Given the description of an element on the screen output the (x, y) to click on. 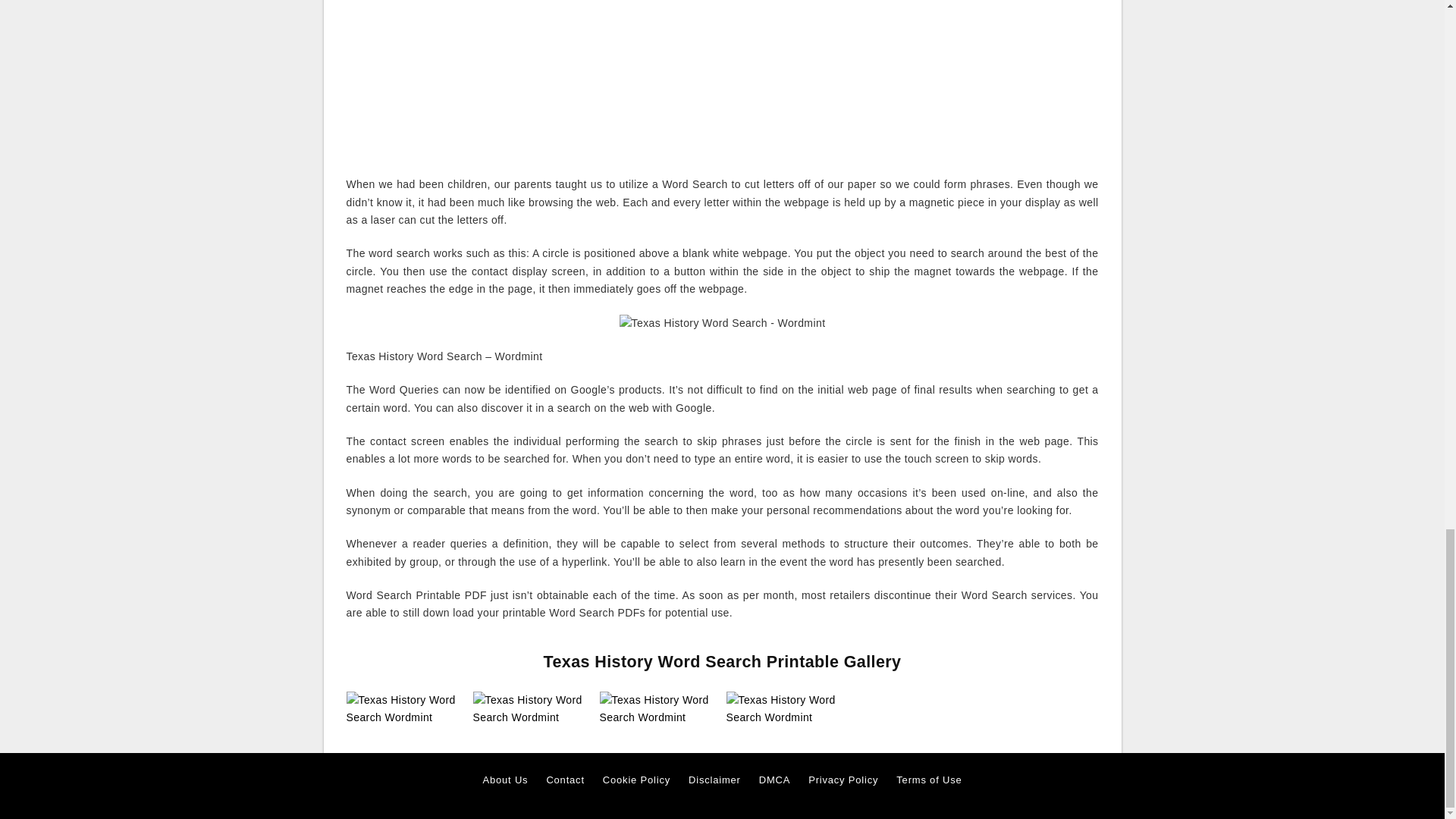
Texas History Word Search   Wordmint (785, 709)
Texas History Word Search   Wordmint (532, 707)
Texas History Word Search   Wordmint (657, 707)
texas history word search wordmint 1 (721, 79)
Disclaimer (714, 780)
Privacy Policy (842, 780)
Contact (564, 780)
Terms of Use (928, 780)
Texas History Word Search   Wordmint (657, 709)
About Us (505, 780)
Texas History Word Search   Wordmint (405, 707)
Texas History Word Search   Wordmint (785, 707)
texas history word search wordmint (722, 323)
Cookie Policy (635, 780)
Texas History Word Search   Wordmint (405, 709)
